Given the description of an element on the screen output the (x, y) to click on. 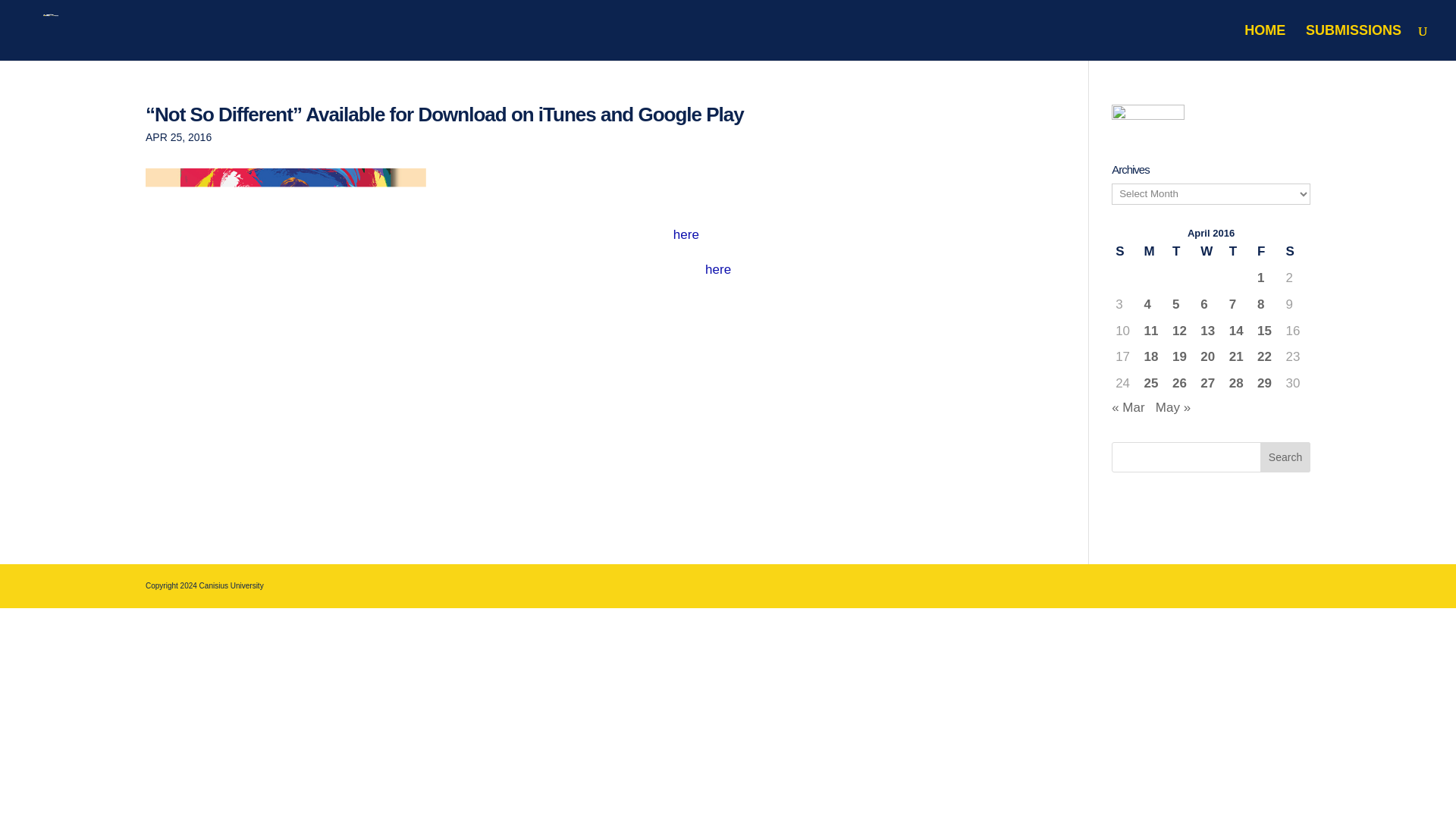
Search (1285, 457)
5 (1182, 305)
12 (1182, 332)
25 (1154, 383)
19 (1182, 357)
29 (1267, 383)
20 (1210, 357)
14 (1238, 332)
13 (1210, 332)
4 (1154, 305)
